Given the description of an element on the screen output the (x, y) to click on. 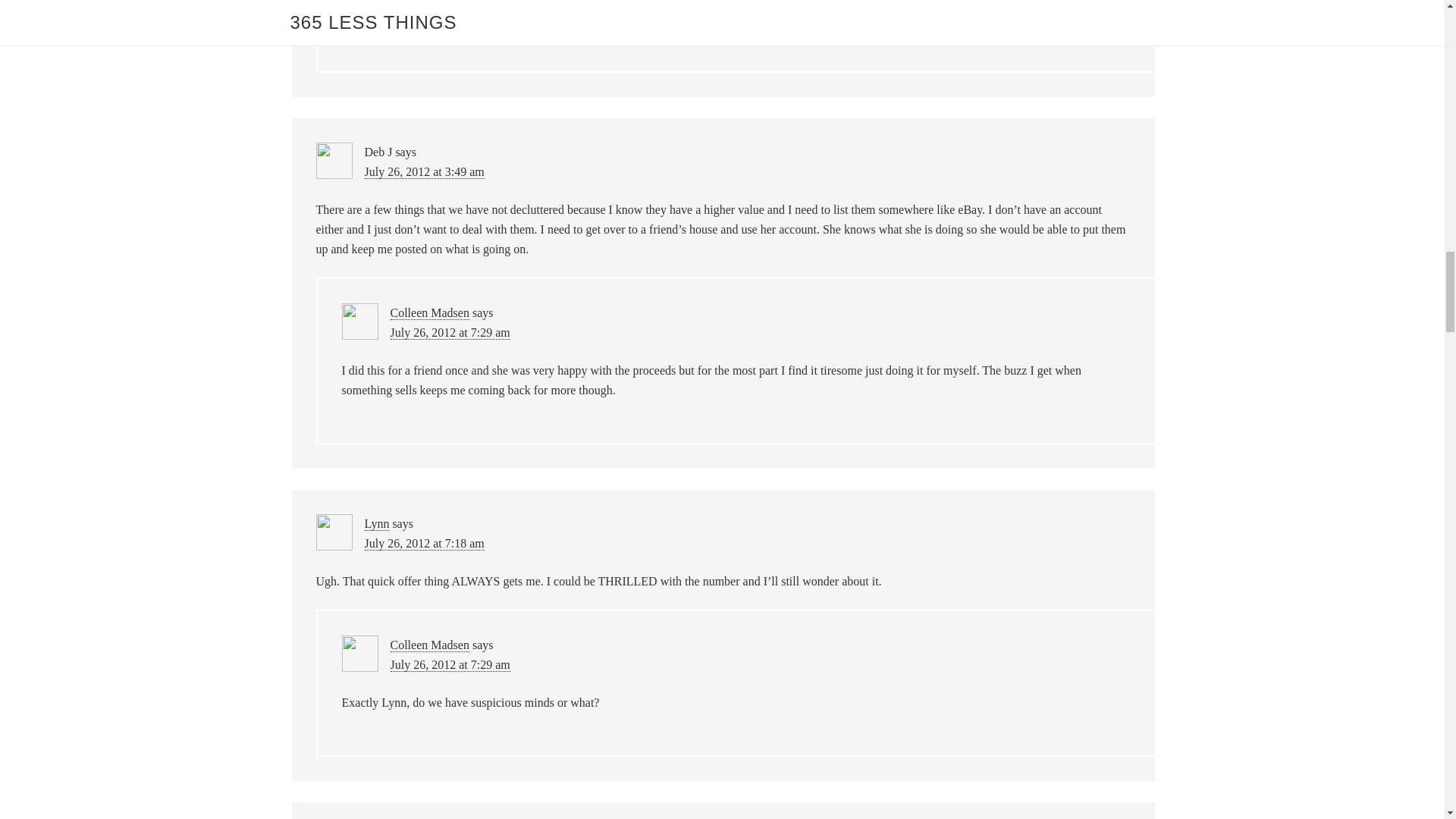
July 26, 2012 at 7:29 am (449, 664)
July 26, 2012 at 7:29 am (449, 332)
Colleen Madsen (429, 644)
Lynn (376, 523)
July 26, 2012 at 3:49 am (423, 172)
July 26, 2012 at 7:18 am (423, 543)
Colleen Madsen (429, 313)
